Given the description of an element on the screen output the (x, y) to click on. 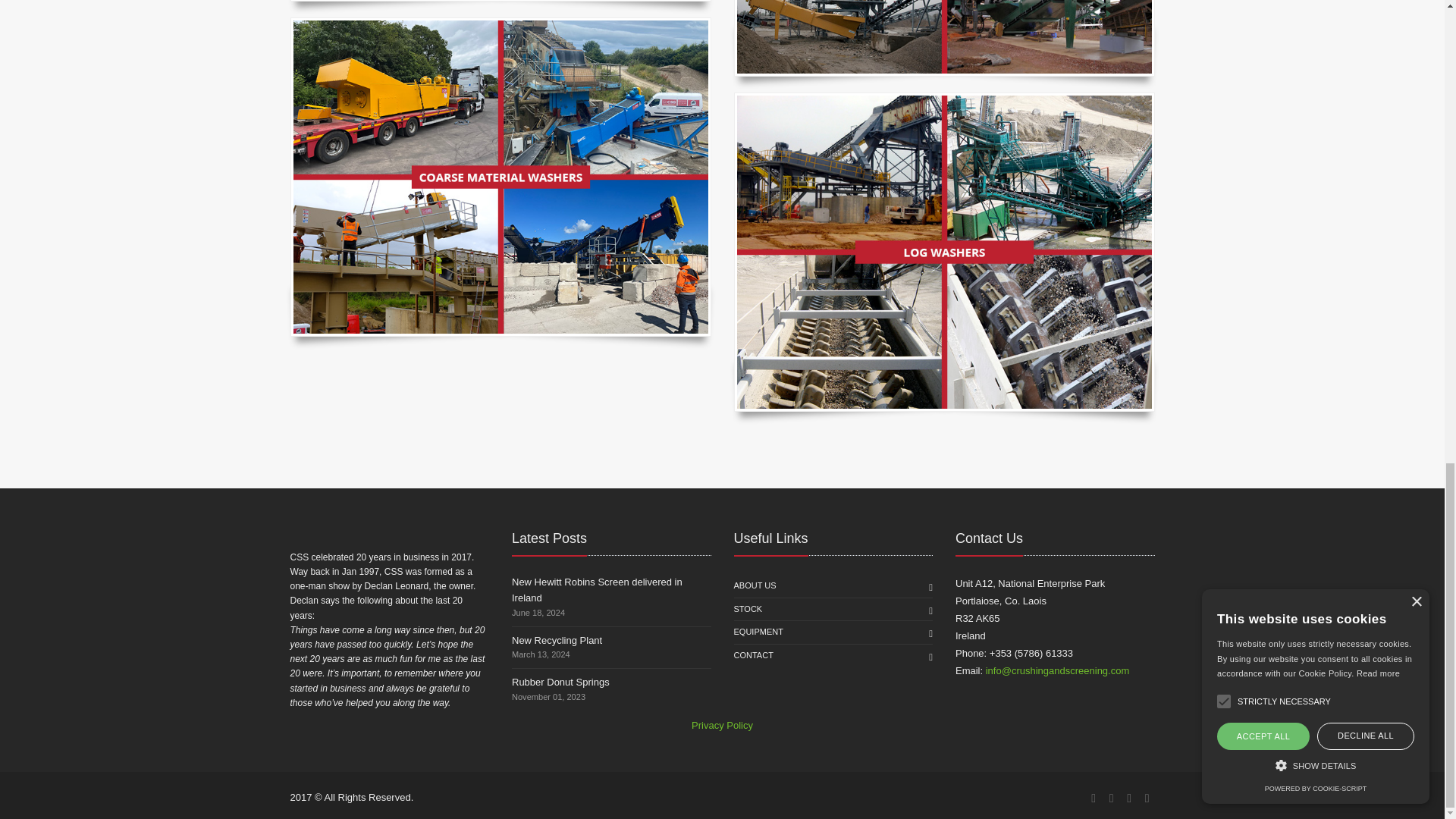
STOCK (747, 609)
New Recycling Plant (557, 640)
New Hewitt Robins Screen delivered in Ireland (597, 589)
Privacy Policy (721, 725)
ABOUT US (754, 585)
EQUIPMENT (758, 631)
Rubber Donut Springs (561, 681)
CONTACT (753, 655)
